Given the description of an element on the screen output the (x, y) to click on. 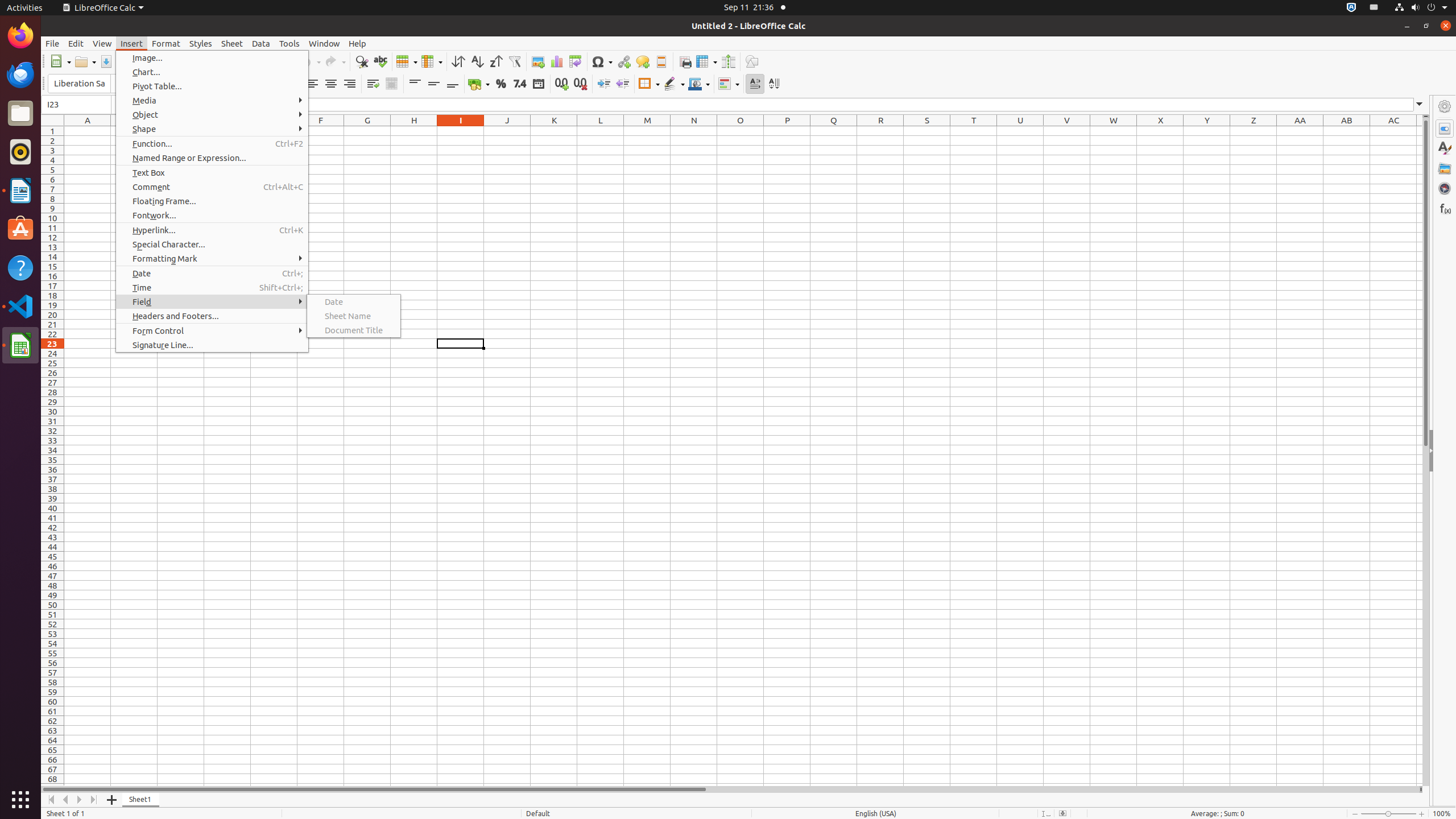
Sort Ascending Element type: push-button (476, 61)
View Element type: menu (102, 43)
Function... Element type: menu-item (212, 143)
Shape Element type: menu (212, 128)
